Given the description of an element on the screen output the (x, y) to click on. 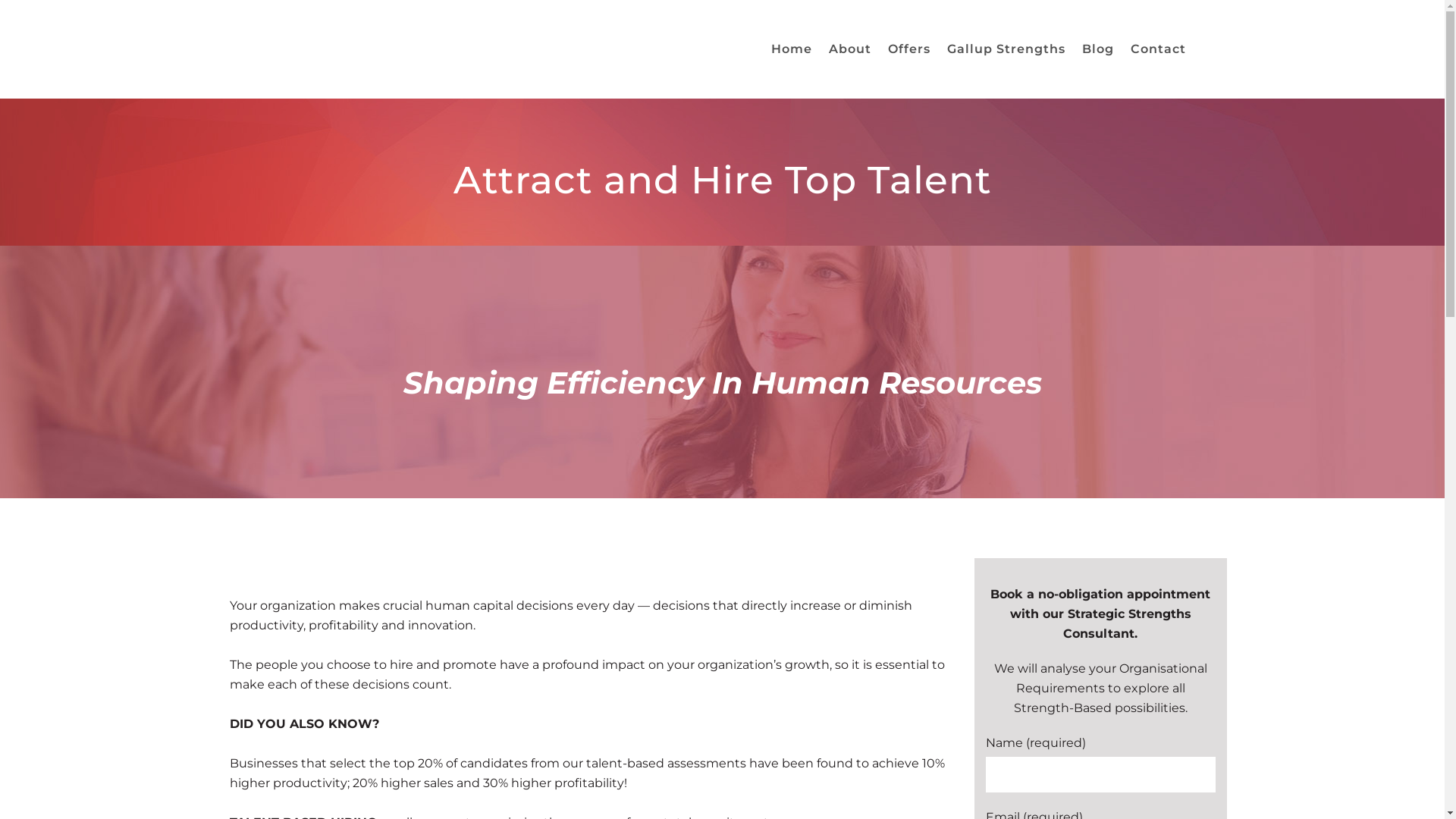
Contact Element type: text (1158, 49)
Gallup Strengths Element type: text (1005, 49)
Blog Element type: text (1097, 49)
About Element type: text (849, 49)
  Element type: text (1203, 49)
Home Element type: text (791, 49)
Offers Element type: text (908, 49)
